Given the description of an element on the screen output the (x, y) to click on. 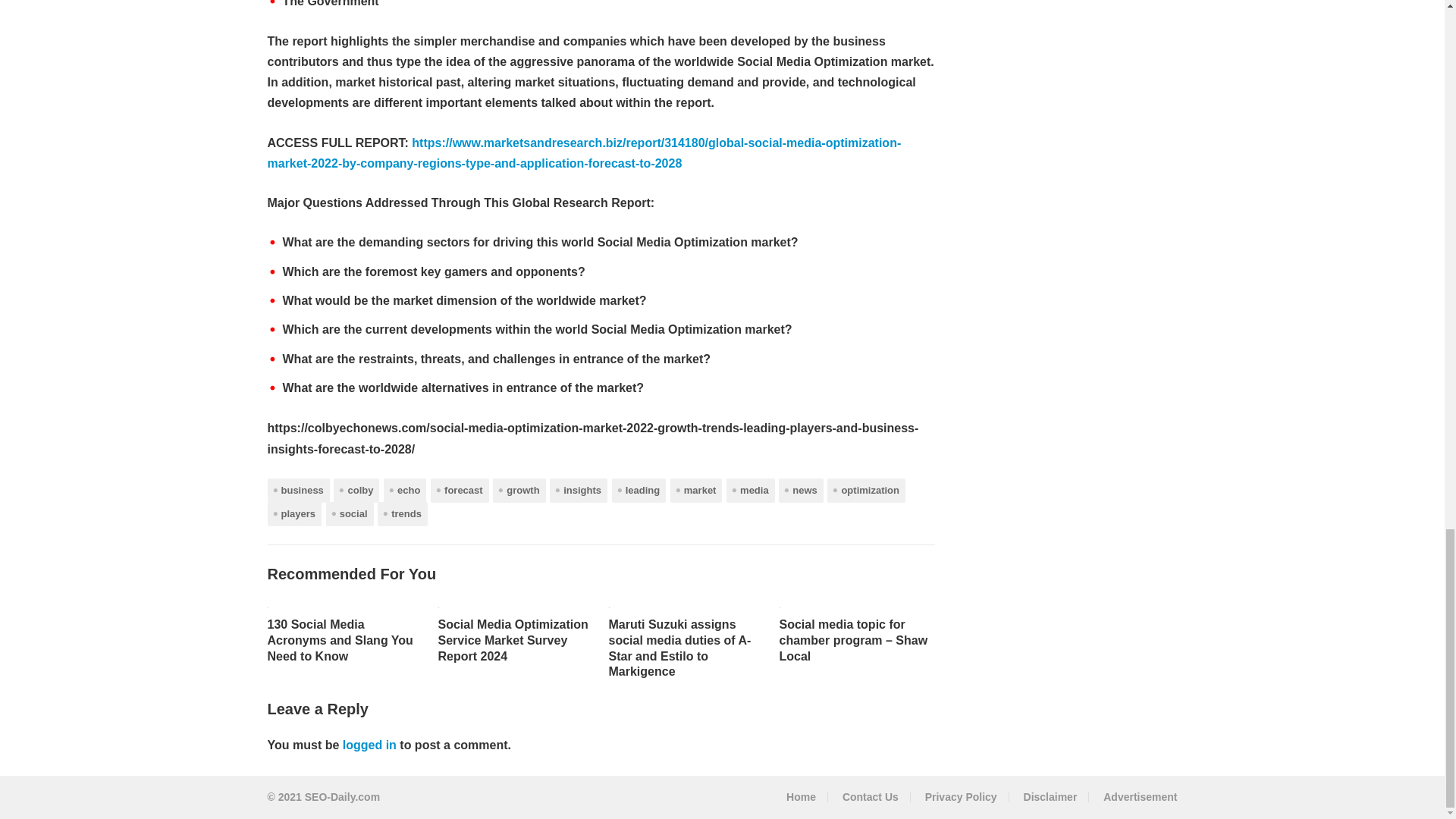
colby (355, 490)
insights (578, 490)
business (297, 490)
growth (518, 490)
echo (405, 490)
forecast (459, 490)
leading (638, 490)
